Given the description of an element on the screen output the (x, y) to click on. 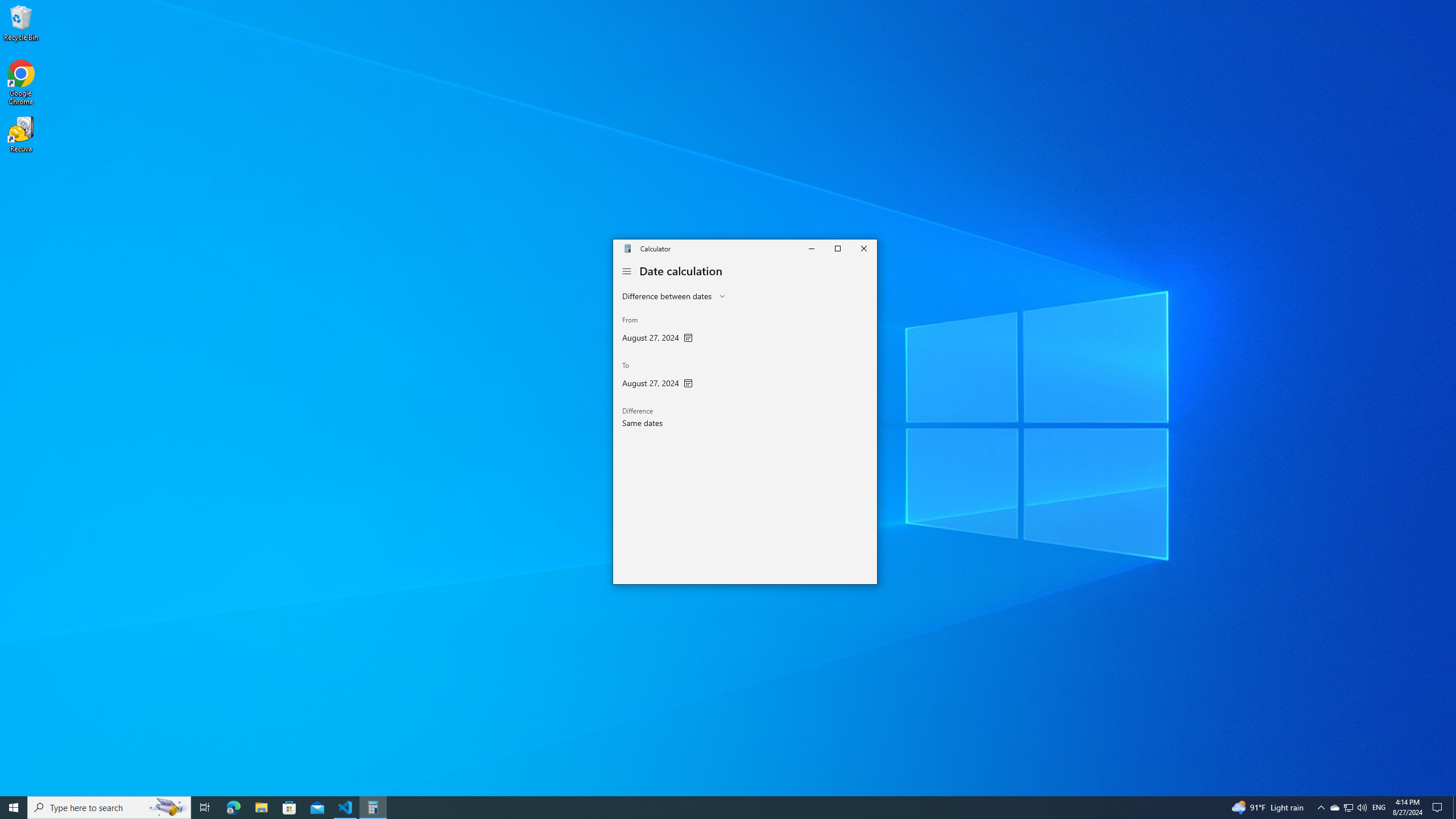
Microsoft Edge (233, 807)
Running applications (706, 807)
Q2790: 100% (1361, 807)
Minimize Calculator (810, 248)
Task View (204, 807)
Close Calculator (863, 248)
Type here to search (108, 807)
Start (13, 807)
File Explorer (261, 807)
Open Navigation (1347, 807)
To (1333, 807)
Notification Chevron (626, 271)
